Given the description of an element on the screen output the (x, y) to click on. 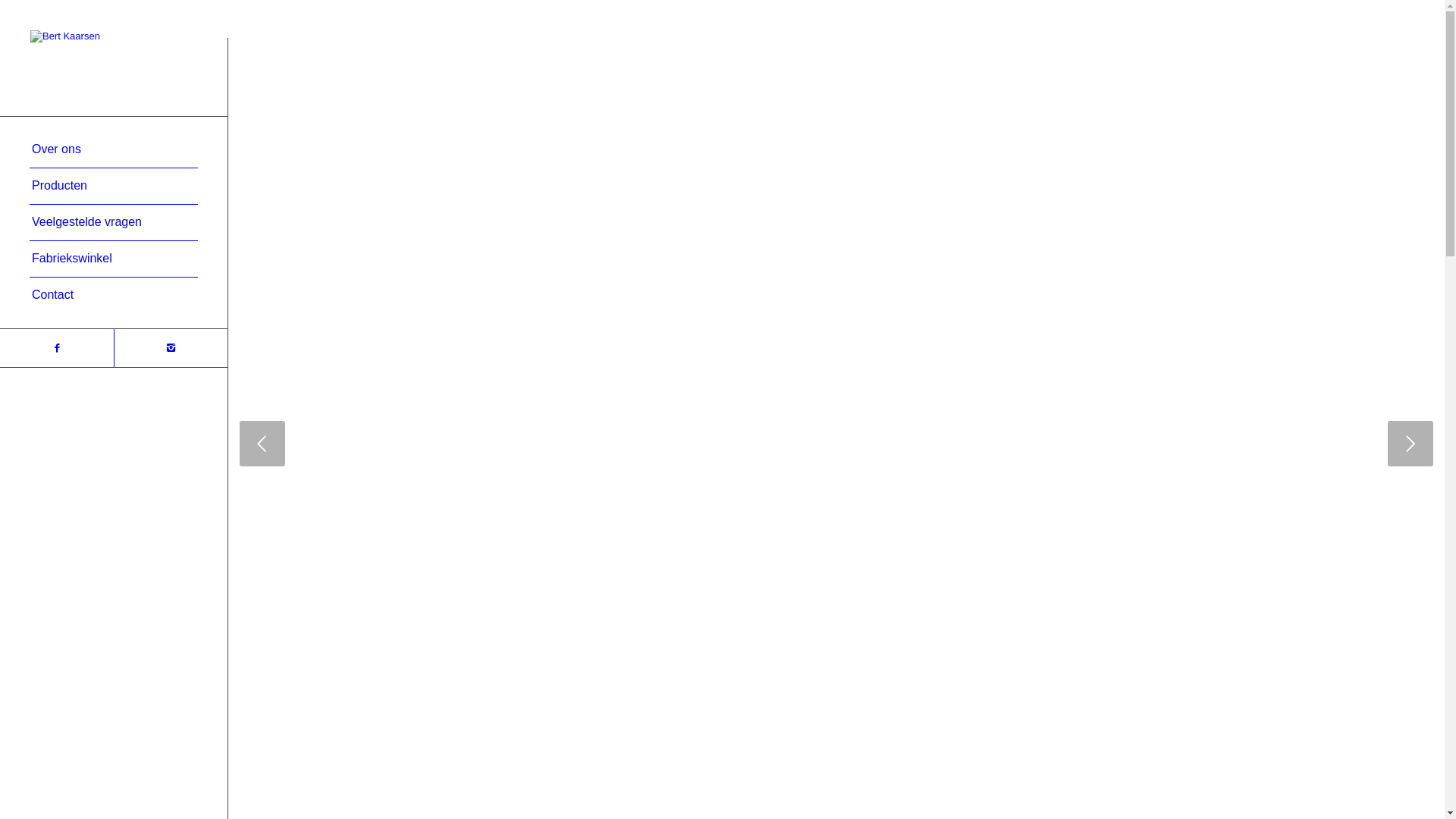
Volgende Element type: text (1410, 443)
Vorige Element type: text (262, 443)
Producten Element type: text (113, 186)
Facebook Element type: hover (56, 348)
Fabriekswinkel Element type: text (113, 259)
Instagram Element type: hover (170, 348)
Contact Element type: text (113, 295)
Veelgestelde vragen Element type: text (113, 222)
Over ons Element type: text (113, 149)
